Given the description of an element on the screen output the (x, y) to click on. 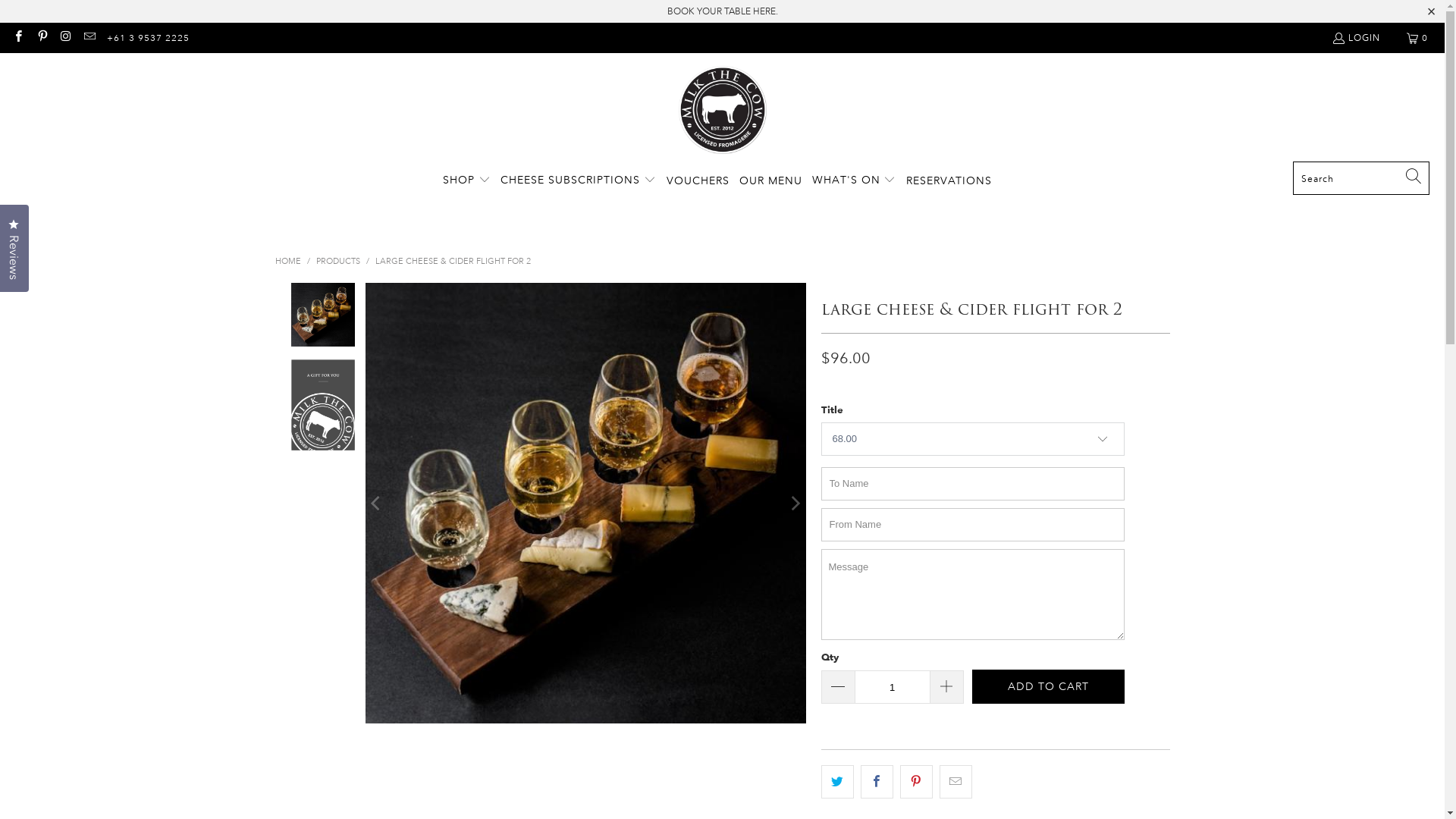
PRODUCTS Element type: text (337, 261)
Milk the Cow Licensed Fromagerie Element type: hover (722, 110)
Share this on Pinterest Element type: hover (916, 781)
VOUCHERS Element type: text (697, 180)
+61 3 9537 2225 Element type: text (147, 37)
0 Element type: text (1417, 37)
Milk the Cow Licensed Fromagerie on Facebook Element type: hover (17, 37)
ADD TO CART Element type: text (1048, 686)
LOGIN Element type: text (1355, 37)
Share this on Facebook Element type: hover (876, 781)
Email this to a friend Element type: hover (955, 781)
Milk the Cow Licensed Fromagerie on Pinterest Element type: hover (40, 37)
Share this on Twitter Element type: hover (836, 781)
Milk the Cow Licensed Fromagerie on Instagram Element type: hover (65, 37)
Email Milk the Cow Licensed Fromagerie Element type: hover (88, 37)
LARGE CHEESE & CIDER FLIGHT FOR 2 Element type: text (452, 261)
RESERVATIONS Element type: text (948, 180)
BOOK YOUR TABLE HERE. Element type: text (722, 10)
OUR MENU Element type: text (770, 180)
HOME Element type: text (287, 261)
